Given the description of an element on the screen output the (x, y) to click on. 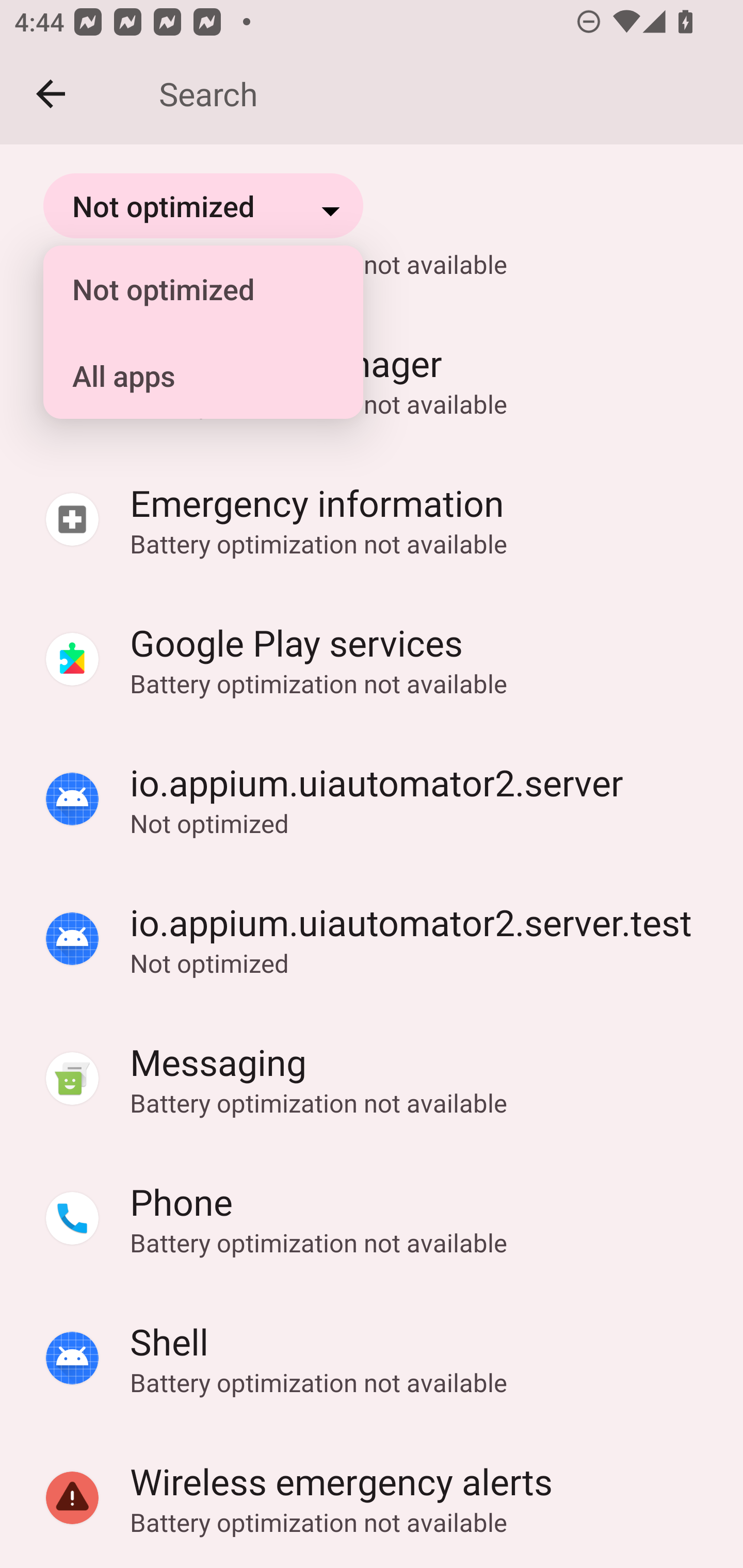
Not optimized (192, 289)
All apps (192, 375)
